Given the description of an element on the screen output the (x, y) to click on. 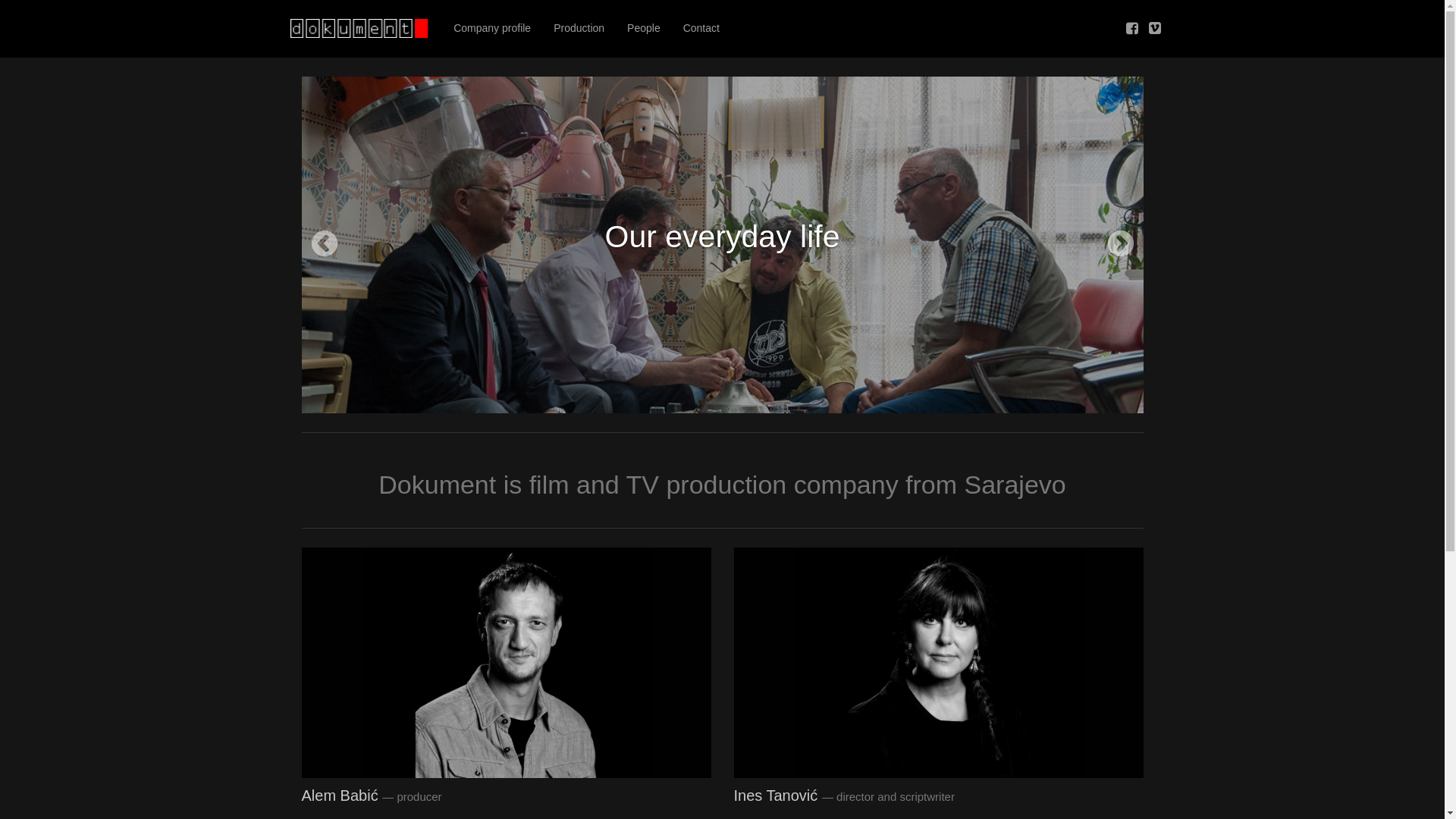
faktograf.hr Element type: hover (359, 27)
facebook Element type: hover (1131, 28)
Production Element type: text (578, 28)
Previous Element type: text (324, 244)
vimeo Element type: hover (1154, 28)
Contact Element type: text (701, 28)
2 Element type: text (710, 395)
4 Element type: text (756, 395)
Next Element type: text (1120, 244)
3 Element type: text (733, 395)
People Element type: text (643, 28)
Company profile Element type: text (492, 28)
Our everyday life Element type: text (722, 236)
1 Element type: text (688, 395)
